Given the description of an element on the screen output the (x, y) to click on. 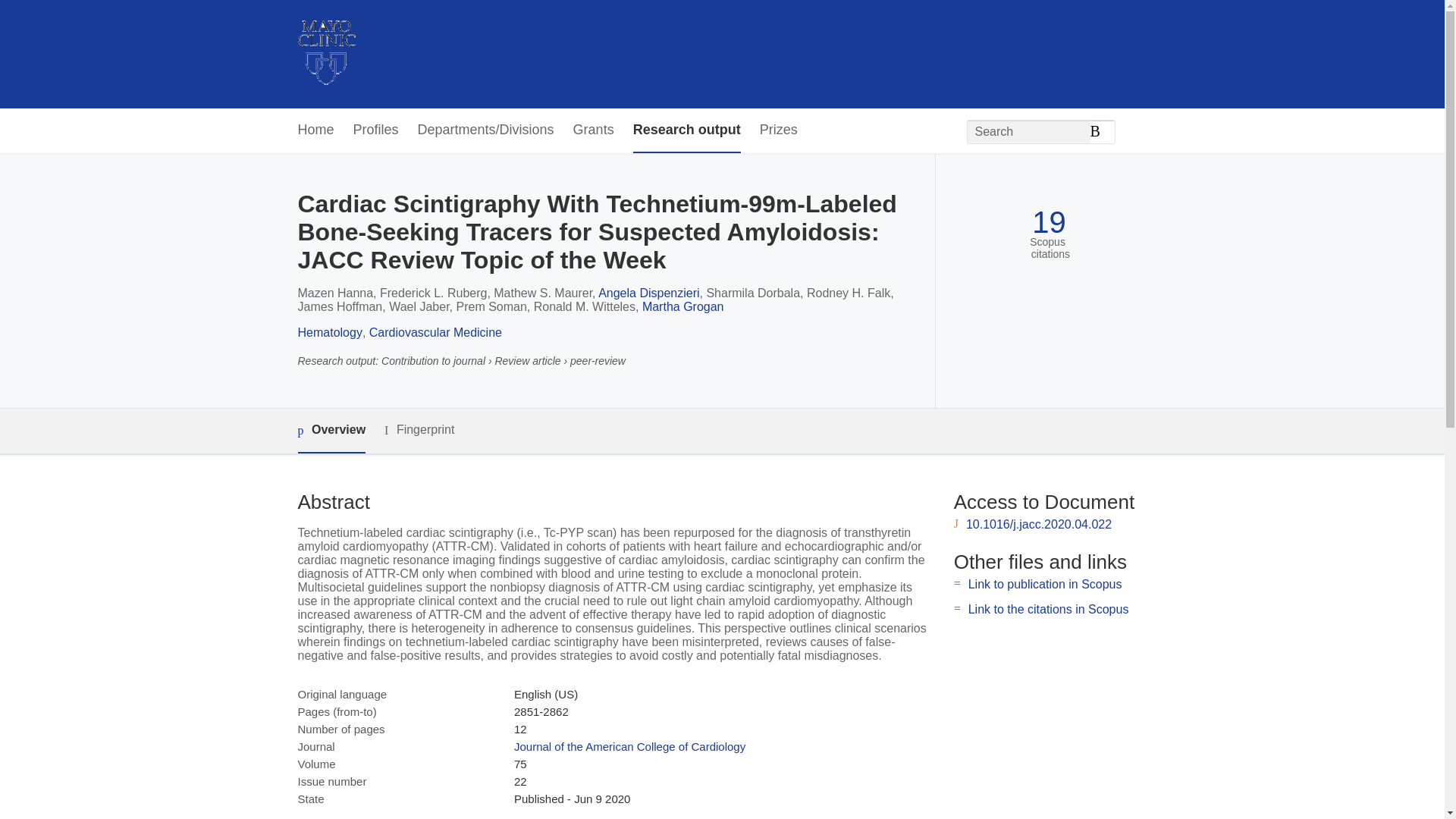
Link to the citations in Scopus (1048, 608)
Hematology (329, 332)
Research output (687, 130)
Link to publication in Scopus (1045, 584)
Journal of the American College of Cardiology (629, 746)
Profiles (375, 130)
Angela Dispenzieri (648, 292)
Grants (593, 130)
Fingerprint (419, 430)
